Given the description of an element on the screen output the (x, y) to click on. 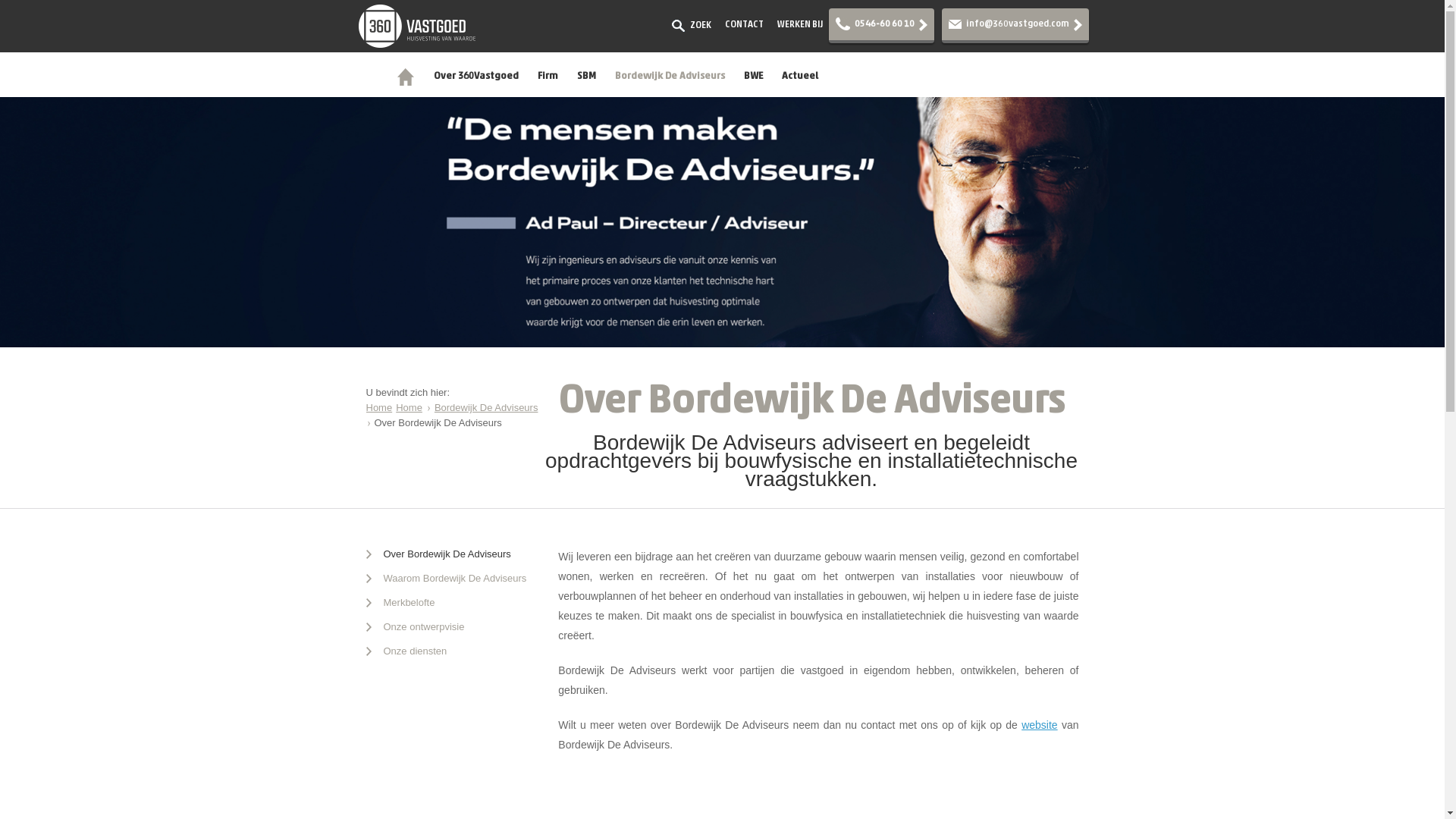
BWE Element type: text (752, 76)
Home Element type: text (378, 407)
Waarom Bordewijk De Adviseurs Element type: text (445, 578)
website Element type: text (1039, 724)
WERKEN BIJ Element type: text (799, 24)
SBM Element type: text (585, 76)
ZOEK Element type: text (691, 25)
Onze diensten Element type: text (405, 651)
Home Element type: text (408, 407)
Firm Element type: text (546, 76)
Over 360Vastgoed Element type: text (475, 76)
info@360vastgoed.com Element type: text (1017, 23)
CONTACT Element type: text (743, 24)
Over Bordewijk De Adviseurs | 360Vastgoed Element type: hover (415, 25)
Onze ontwerpvisie Element type: text (414, 627)
Bordewijk De Adviseurs Element type: text (669, 76)
Home | 360Vastgoed Element type: hover (404, 76)
Merkbelofte Element type: text (399, 602)
Actueel Element type: text (799, 76)
Bordewijk De Adviseurs Element type: text (486, 407)
Over Bordewijk De Adviseurs Element type: text (437, 554)
